Given the description of an element on the screen output the (x, y) to click on. 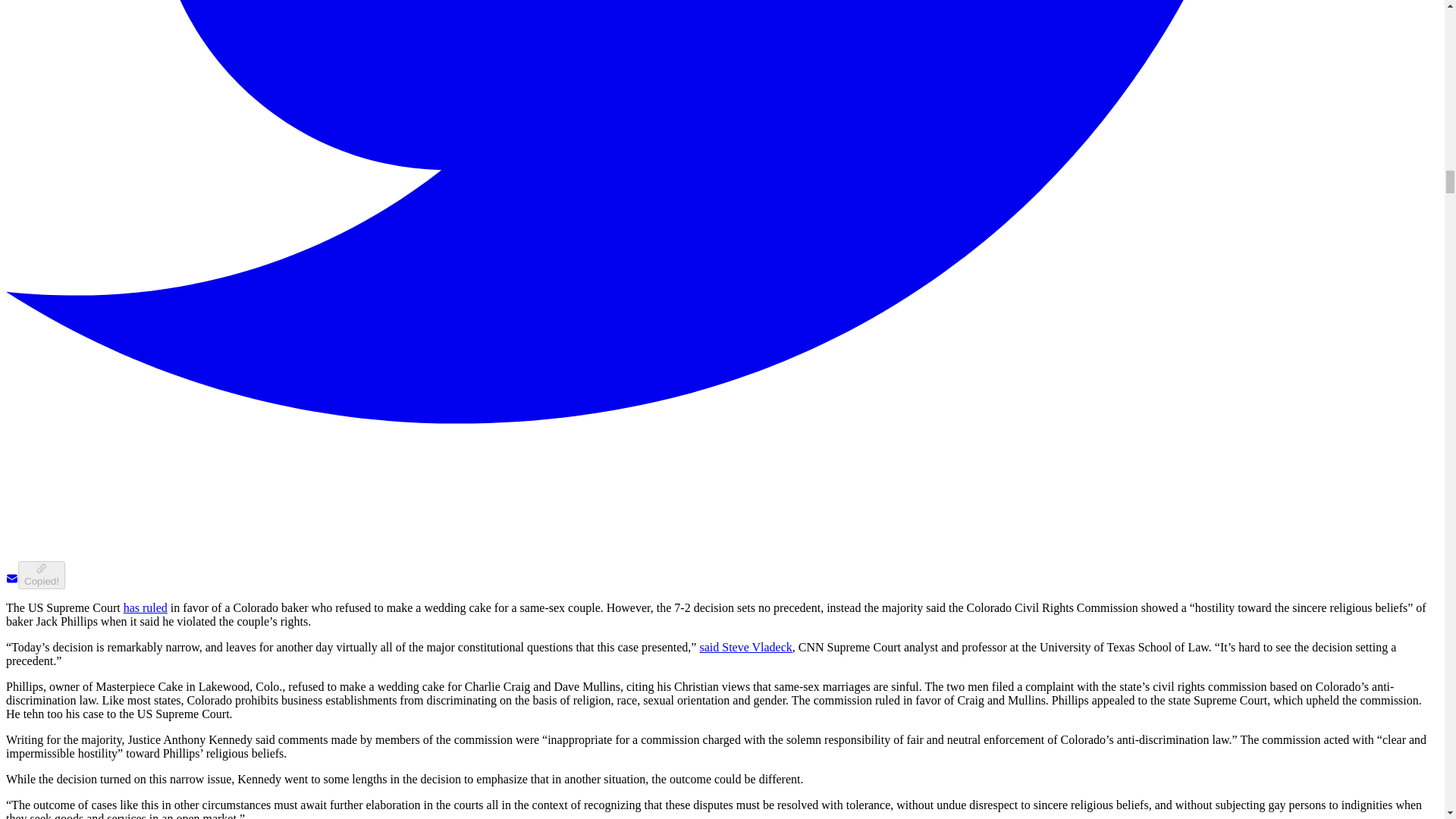
said Steve Vladeck (745, 646)
has ruled (145, 607)
Copied! (41, 574)
